Given the description of an element on the screen output the (x, y) to click on. 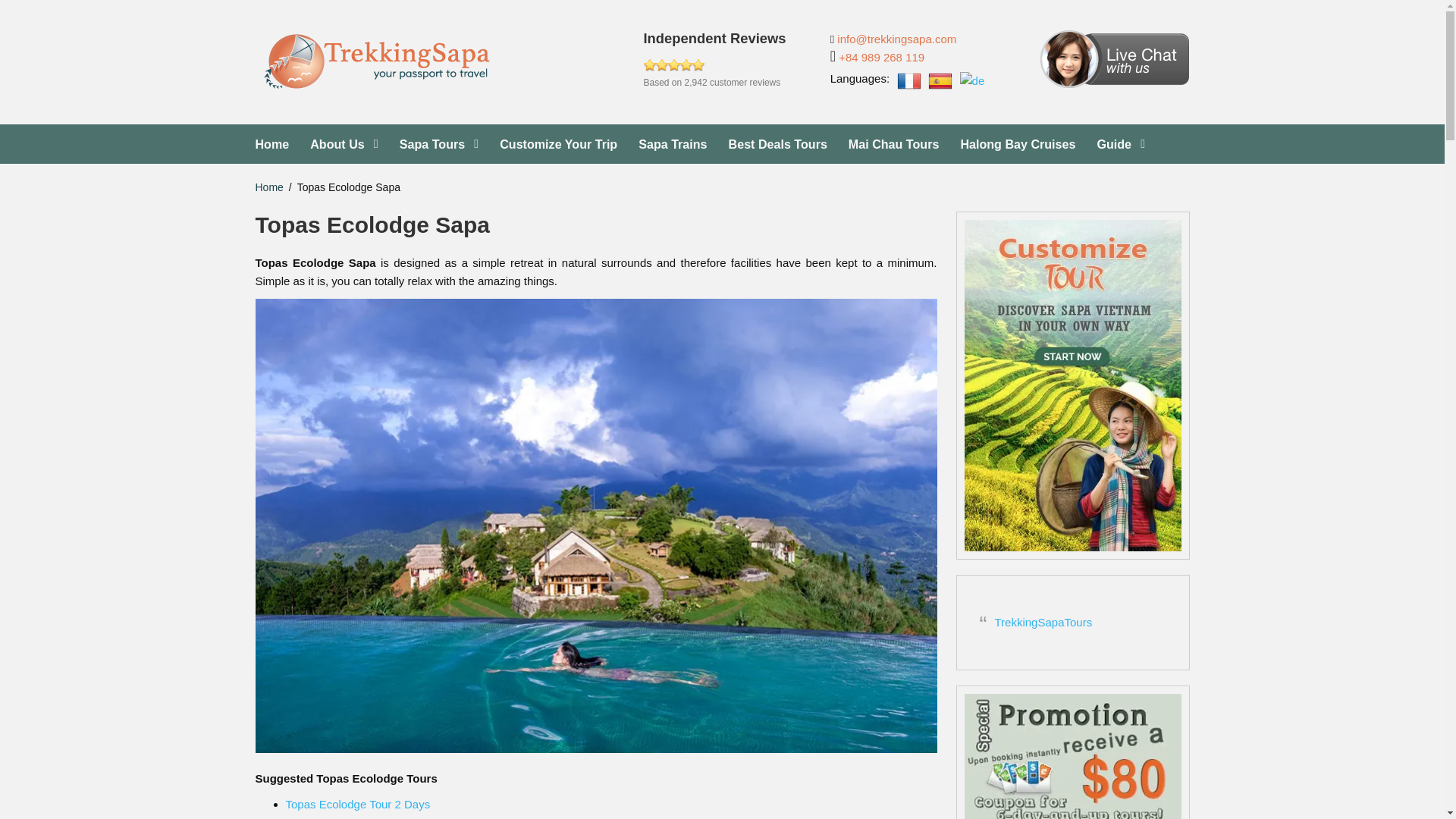
Spain - Viajes a Vietnam (729, 60)
Independent Reviews: Sapa Vietnam Tours (940, 80)
Halong Bay Cruises (729, 60)
Sapa Tours (1017, 143)
Best Sapa Vietnam Tours (438, 143)
Home (438, 143)
Best Deals Tours (268, 186)
Mai Chau Tours (778, 143)
Best Sapa Tours: customize your trip (893, 143)
